Given the description of an element on the screen output the (x, y) to click on. 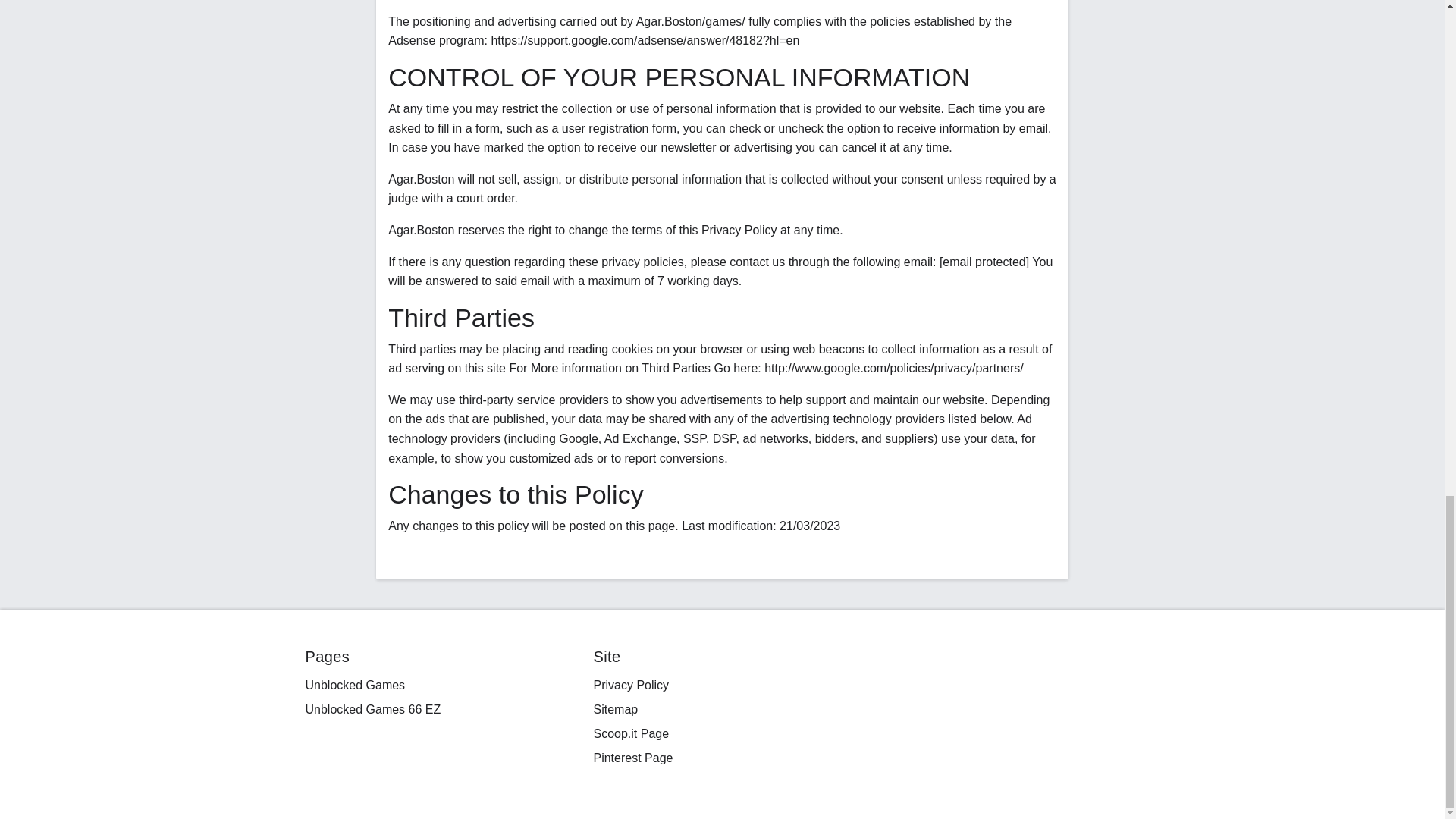
Unblocked Games (354, 684)
Privacy Policy (630, 684)
Pinterest Page (632, 757)
Unblocked Games 66 EZ (372, 708)
Scoop.it Page (630, 733)
Unblocked Games (354, 684)
Scoop.it Page (630, 733)
Sitemap (614, 708)
Privacy Policy (630, 684)
sitemap (614, 708)
